Given the description of an element on the screen output the (x, y) to click on. 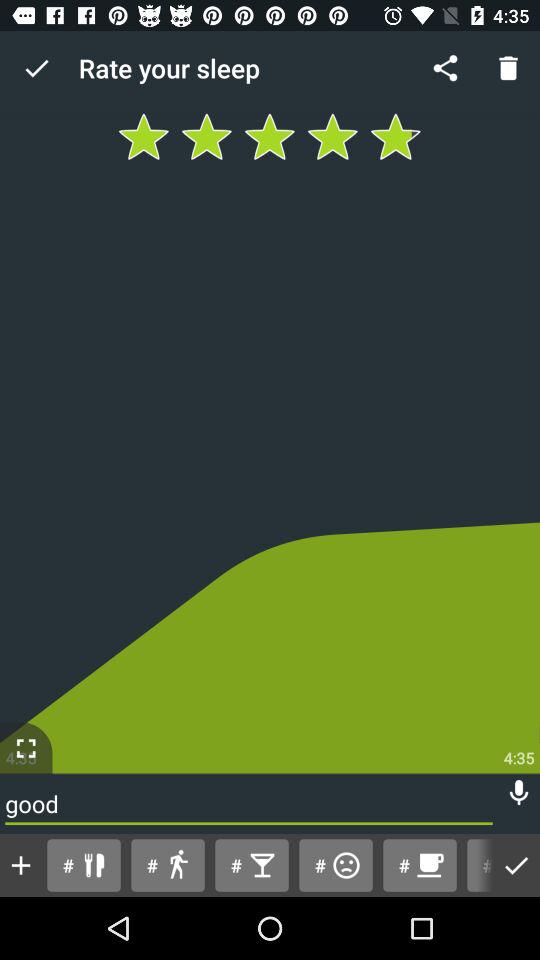
add another item (21, 865)
